Given the description of an element on the screen output the (x, y) to click on. 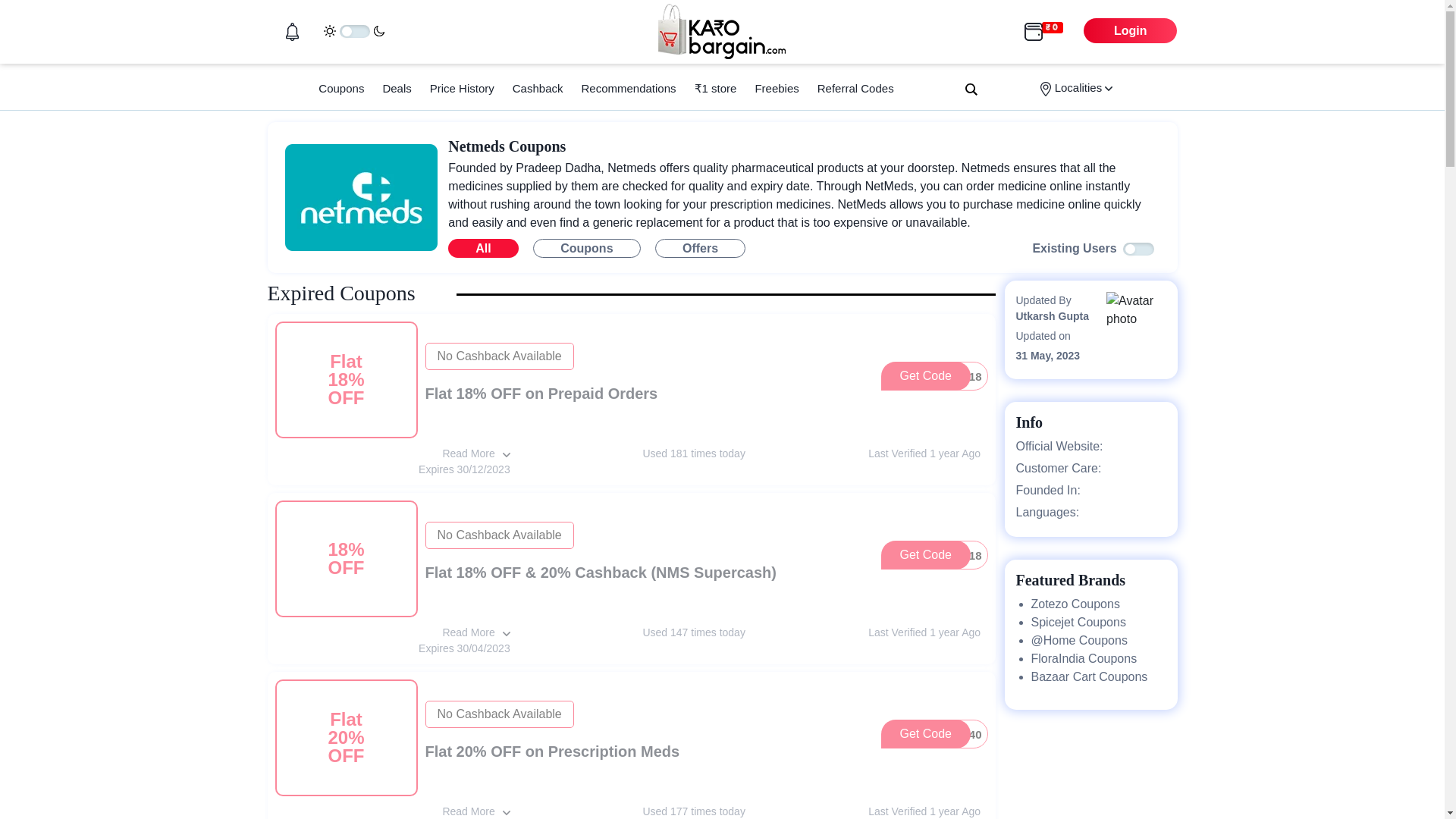
Deals (395, 88)
Price History (462, 88)
Referral Codes (934, 375)
Coupons (854, 88)
Recommendations (341, 88)
Cashback (627, 88)
Freebies (934, 733)
Offers (537, 88)
